Given the description of an element on the screen output the (x, y) to click on. 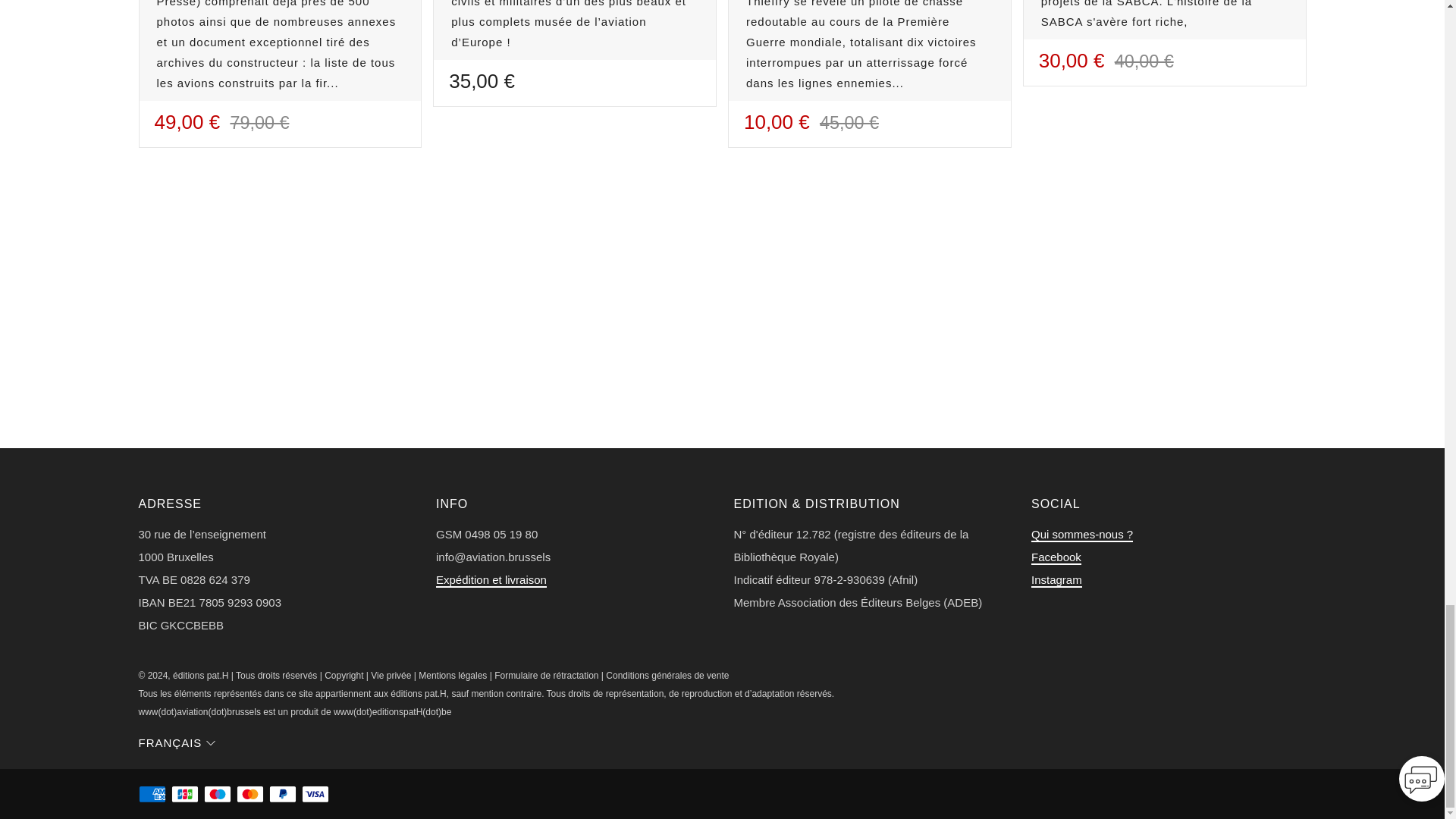
Qui sommes-nous ? (1081, 534)
